Given the description of an element on the screen output the (x, y) to click on. 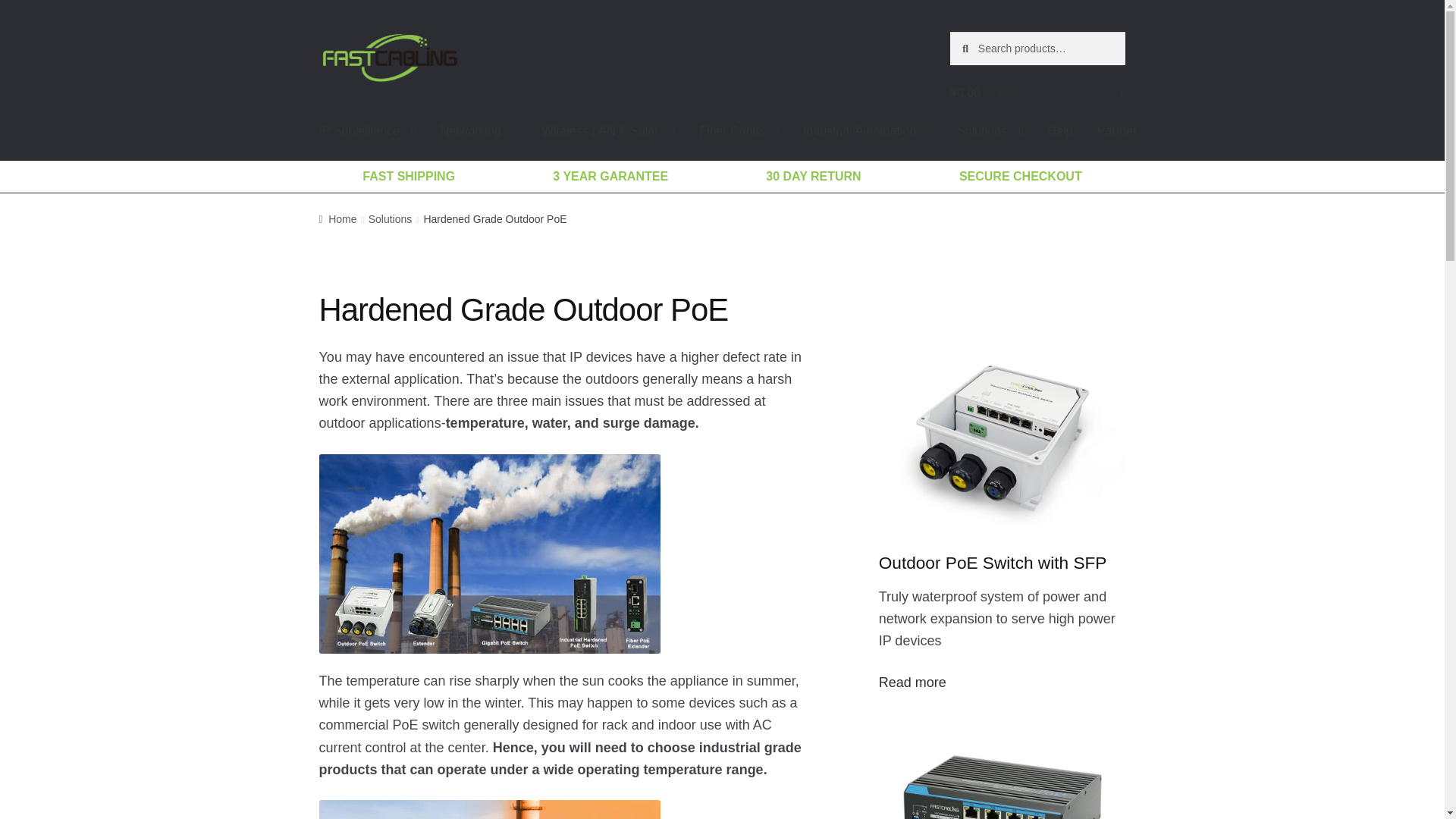
Networking (478, 130)
IP Surveillance (367, 130)
View your shopping cart (1037, 92)
Fiber Cable (738, 130)
REGISTER NOW (888, 426)
